Given the description of an element on the screen output the (x, y) to click on. 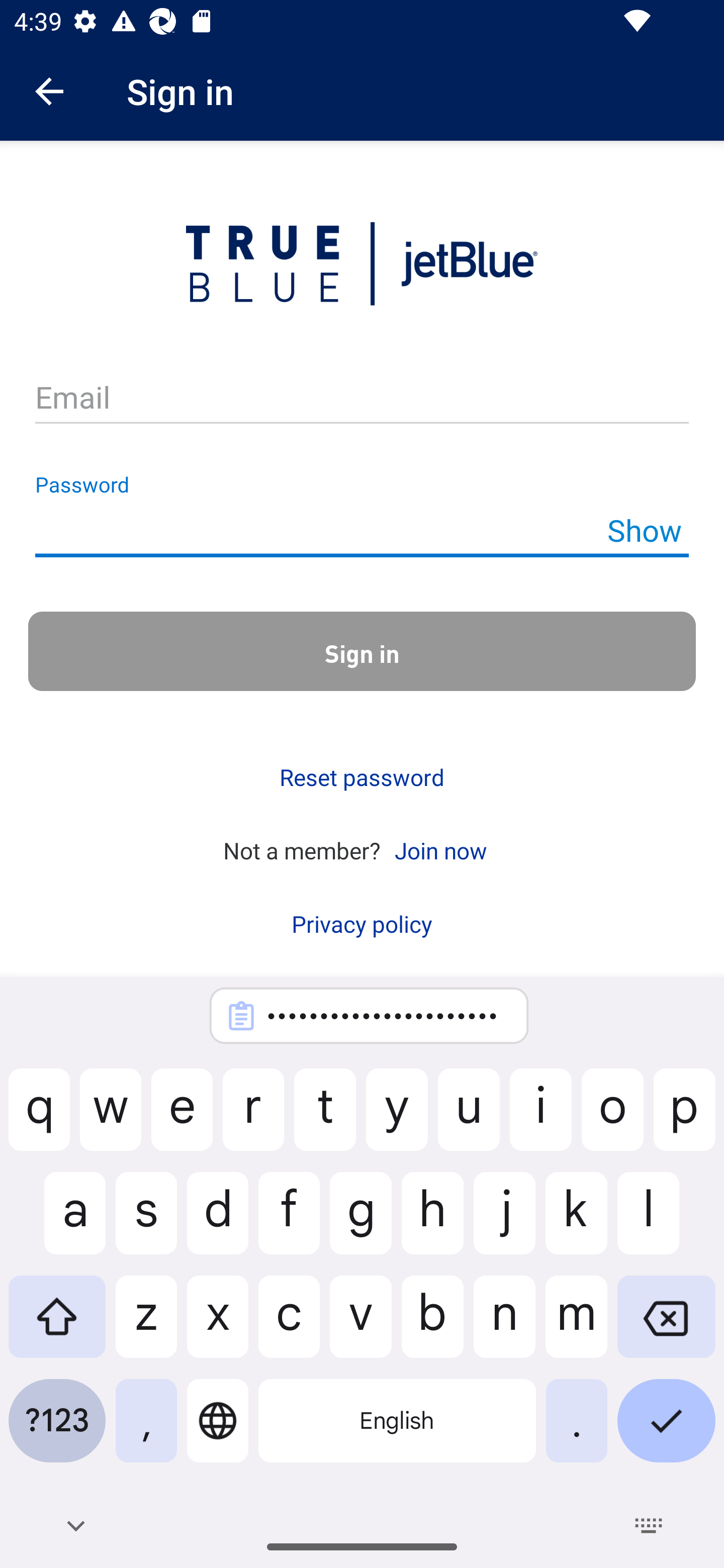
Navigate up (49, 91)
Email (361, 398)
Password (361, 530)
Show (643, 529)
Sign in (361, 651)
Reset password (361, 776)
Join now (440, 849)
Privacy policy (361, 923)
